Given the description of an element on the screen output the (x, y) to click on. 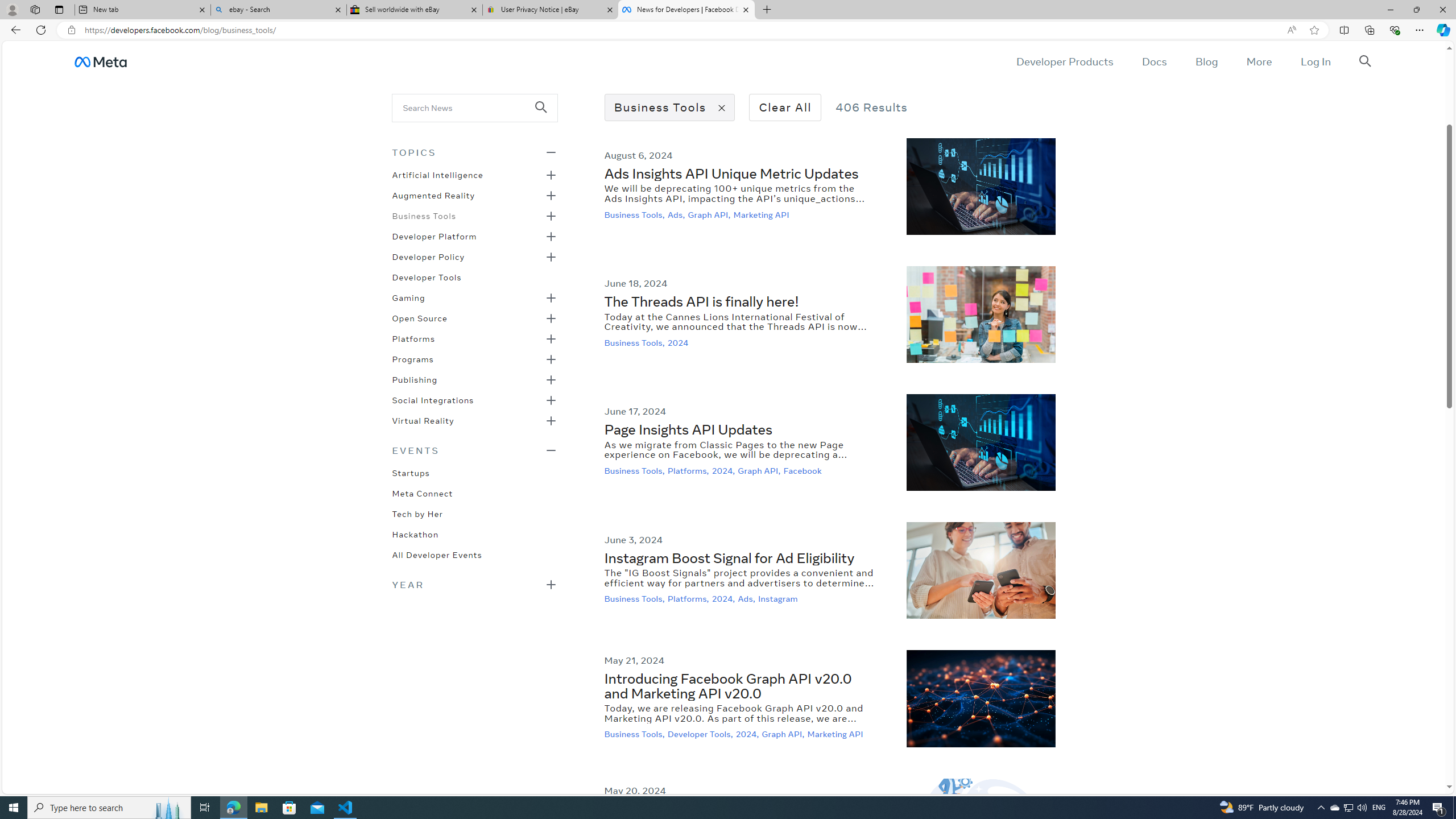
Programs (412, 358)
Close (1442, 9)
Class: _98ex (474, 557)
Hackathon (415, 533)
Class: _98ce (545, 115)
Blog (1205, 61)
ebay - Search (277, 9)
Developer Products (1064, 61)
2024, (748, 733)
Log In (1315, 61)
More (1259, 61)
Social Integrations (432, 399)
Close tab (746, 9)
Platforms (413, 337)
